Given the description of an element on the screen output the (x, y) to click on. 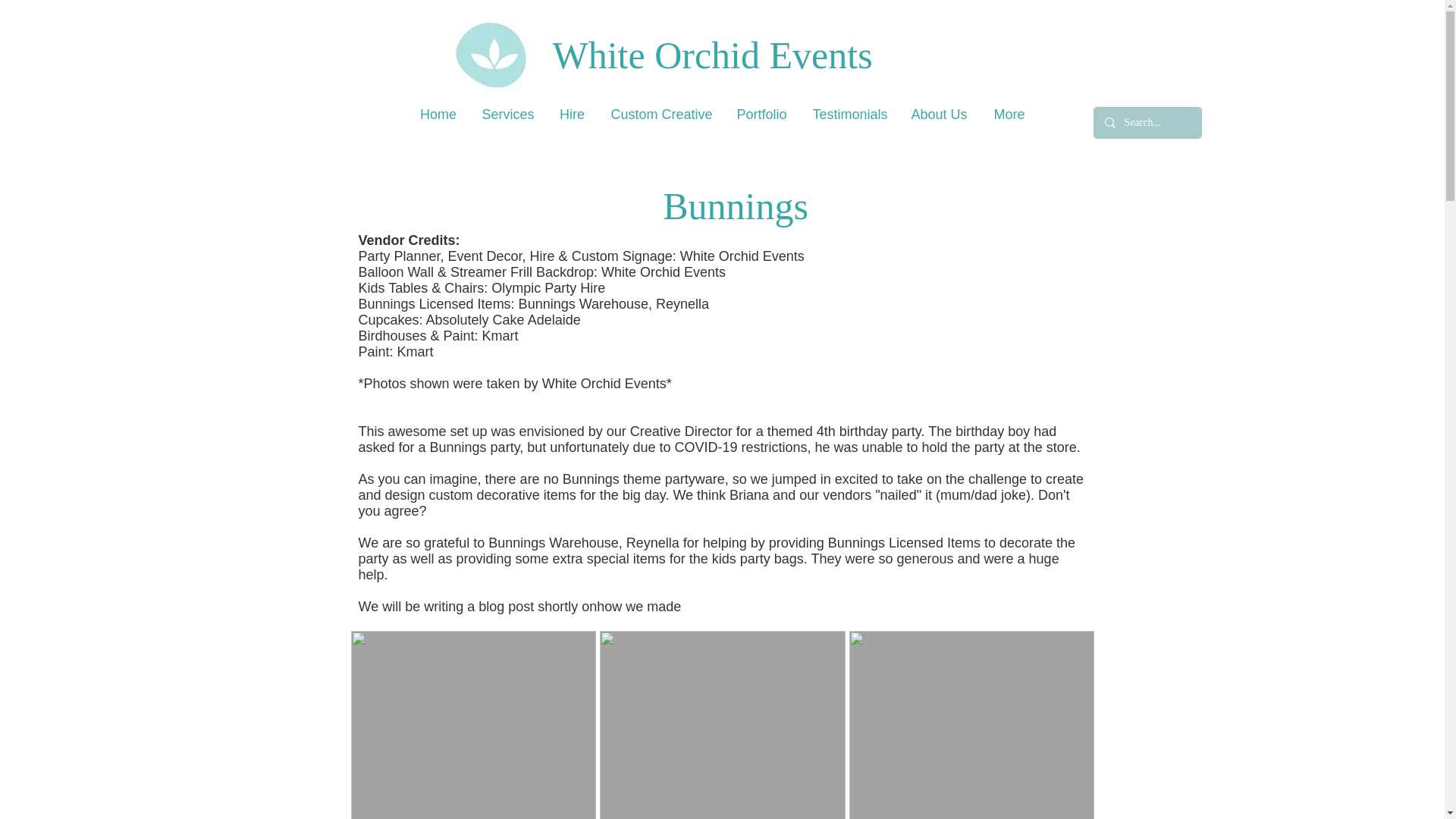
Custom Creative (660, 114)
Hire (571, 114)
Testimonials (849, 114)
Bunnings (735, 205)
Home (438, 114)
White Orchid Events (771, 55)
Portfolio (761, 114)
Services (507, 114)
About Us (938, 114)
